Given the description of an element on the screen output the (x, y) to click on. 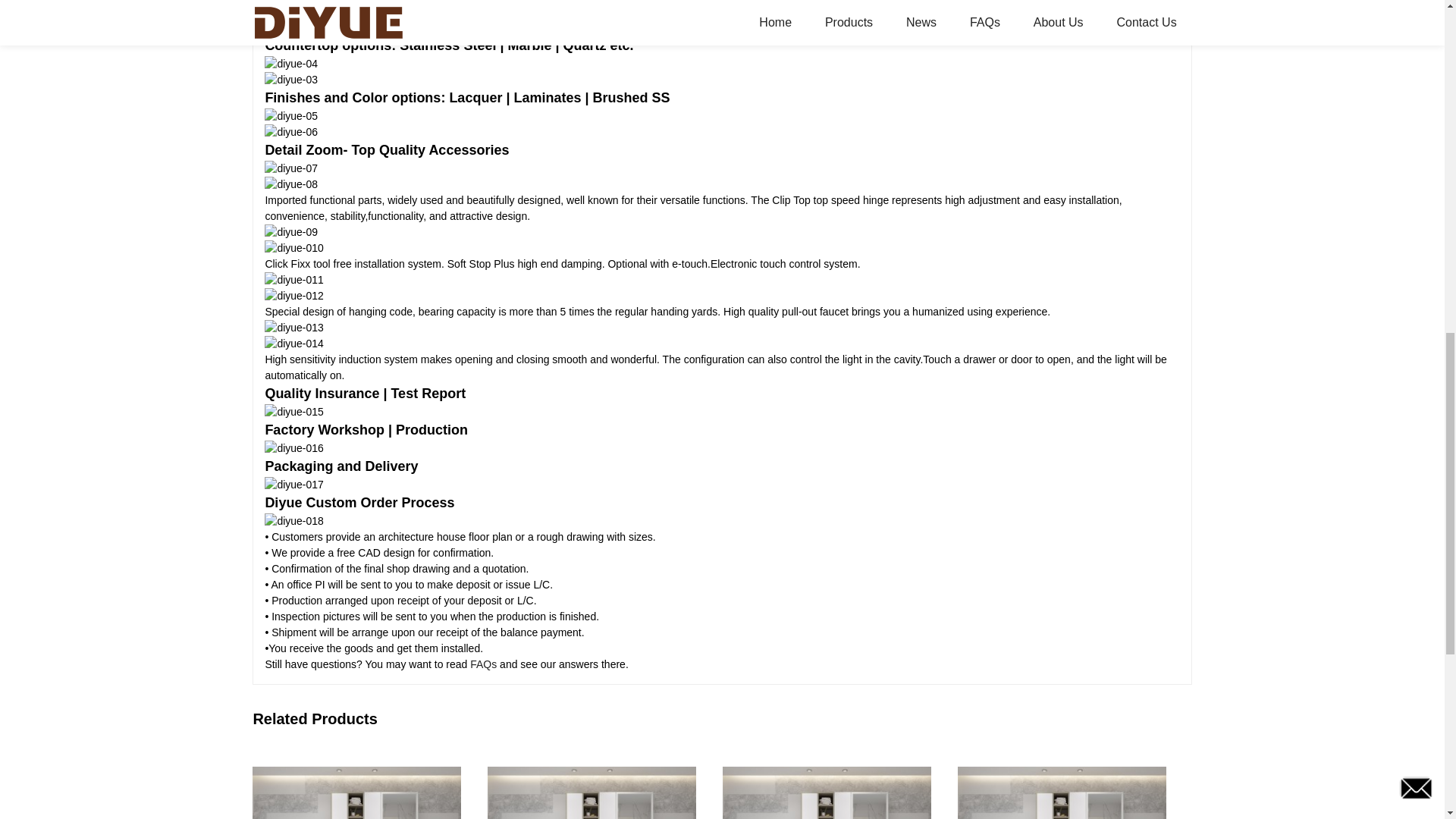
China Supplier Fireproof Filing Cabin... (591, 780)
OEM Manufacturer Towel Cabinet - Cus... (826, 780)
Hot sale Luxury Bathroom Vanities - ... (1062, 780)
New Arrival China Bathroom Cabinet Fu... (1296, 780)
FAQs (483, 664)
